Given the description of an element on the screen output the (x, y) to click on. 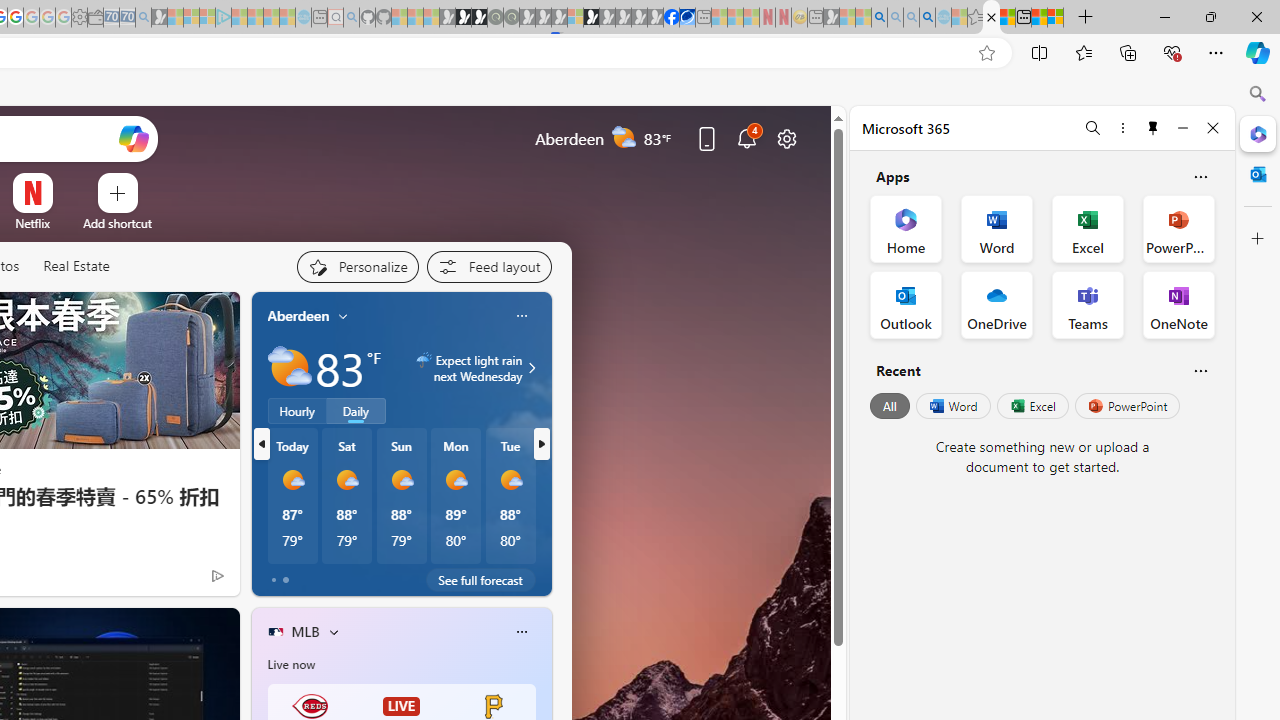
Microsoft account | Privacy (1055, 17)
Nordace | Facebook (671, 17)
Class: weather-arrow-glyph (531, 367)
Feed settings (488, 266)
Ad Choice (217, 575)
Partly sunny (289, 368)
PowerPoint Office App (1178, 228)
previous (261, 443)
My location (343, 315)
